Given the description of an element on the screen output the (x, y) to click on. 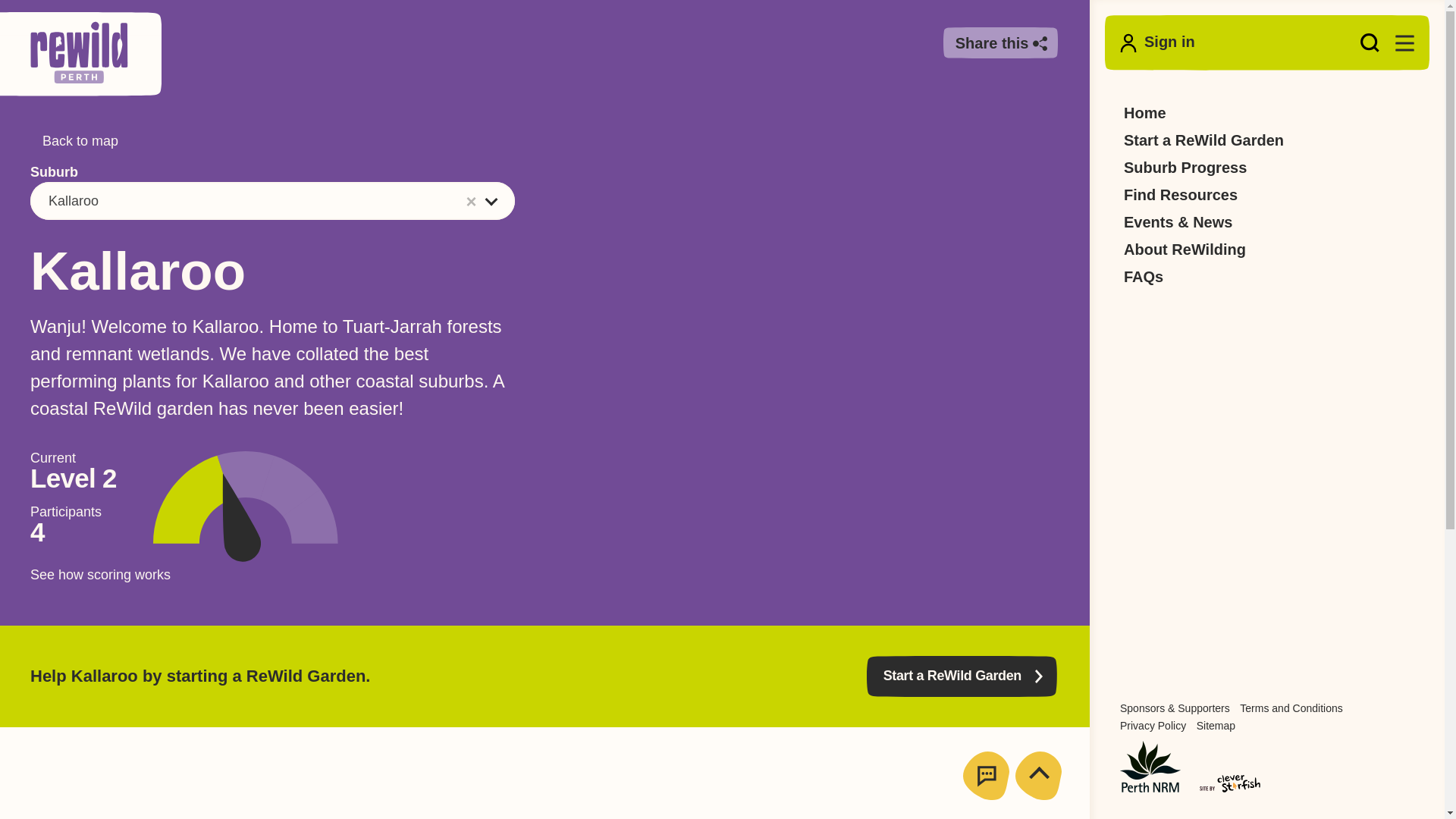
About ReWilding (1185, 249)
Sitemap (1215, 725)
share (1001, 42)
Terms and Conditions (1291, 707)
Search (1368, 42)
FAQs (1143, 276)
Suburb Progress (1185, 167)
Find Resources (1180, 194)
Menu (1403, 42)
Home (1145, 113)
Back to map (73, 141)
Sign in (1157, 41)
Site by Clever Starfish (1230, 783)
Go to Homepage (79, 53)
Share this (1001, 42)
